Given the description of an element on the screen output the (x, y) to click on. 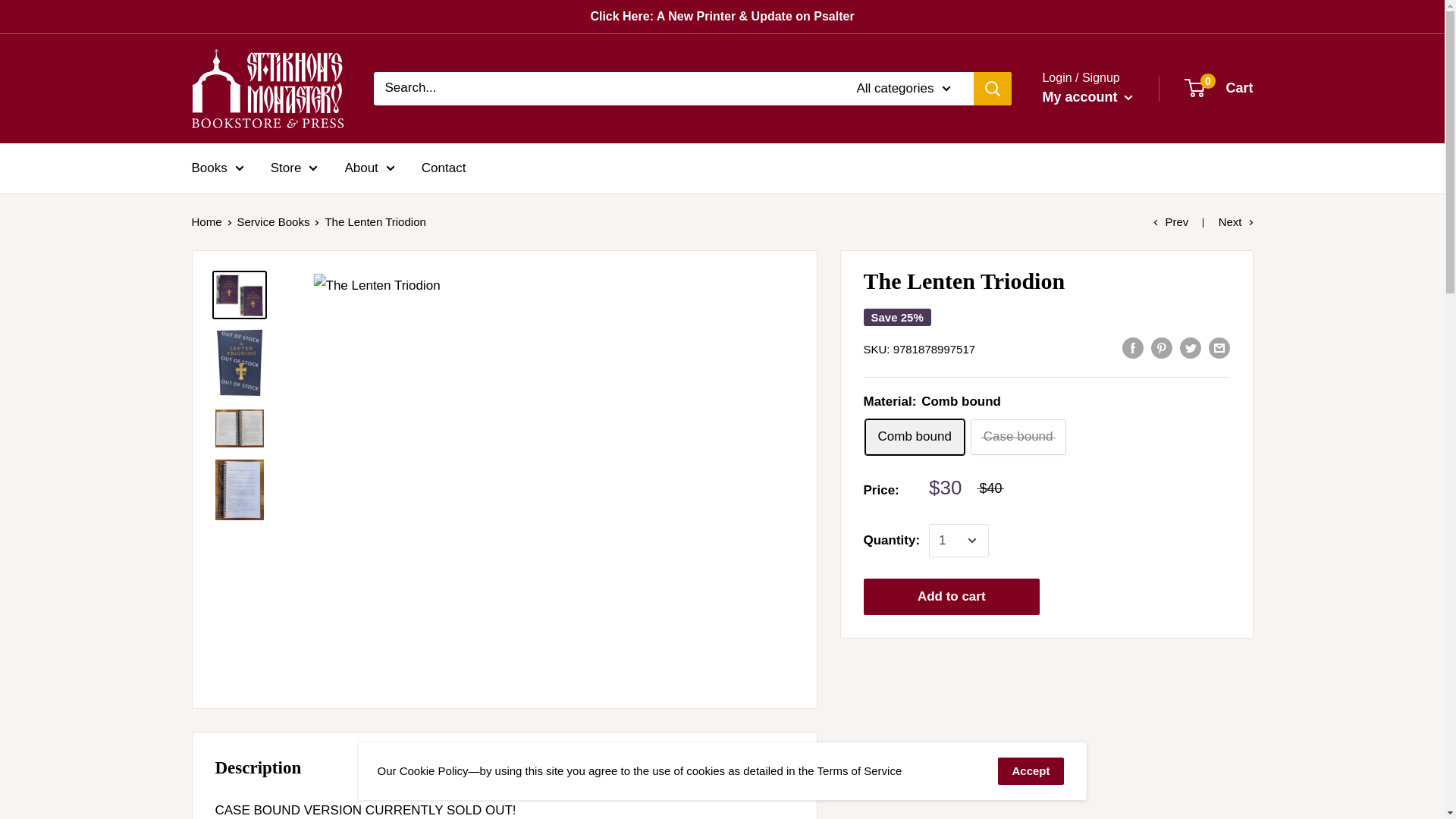
Comb bound (913, 437)
Case bound (1018, 437)
